Given the description of an element on the screen output the (x, y) to click on. 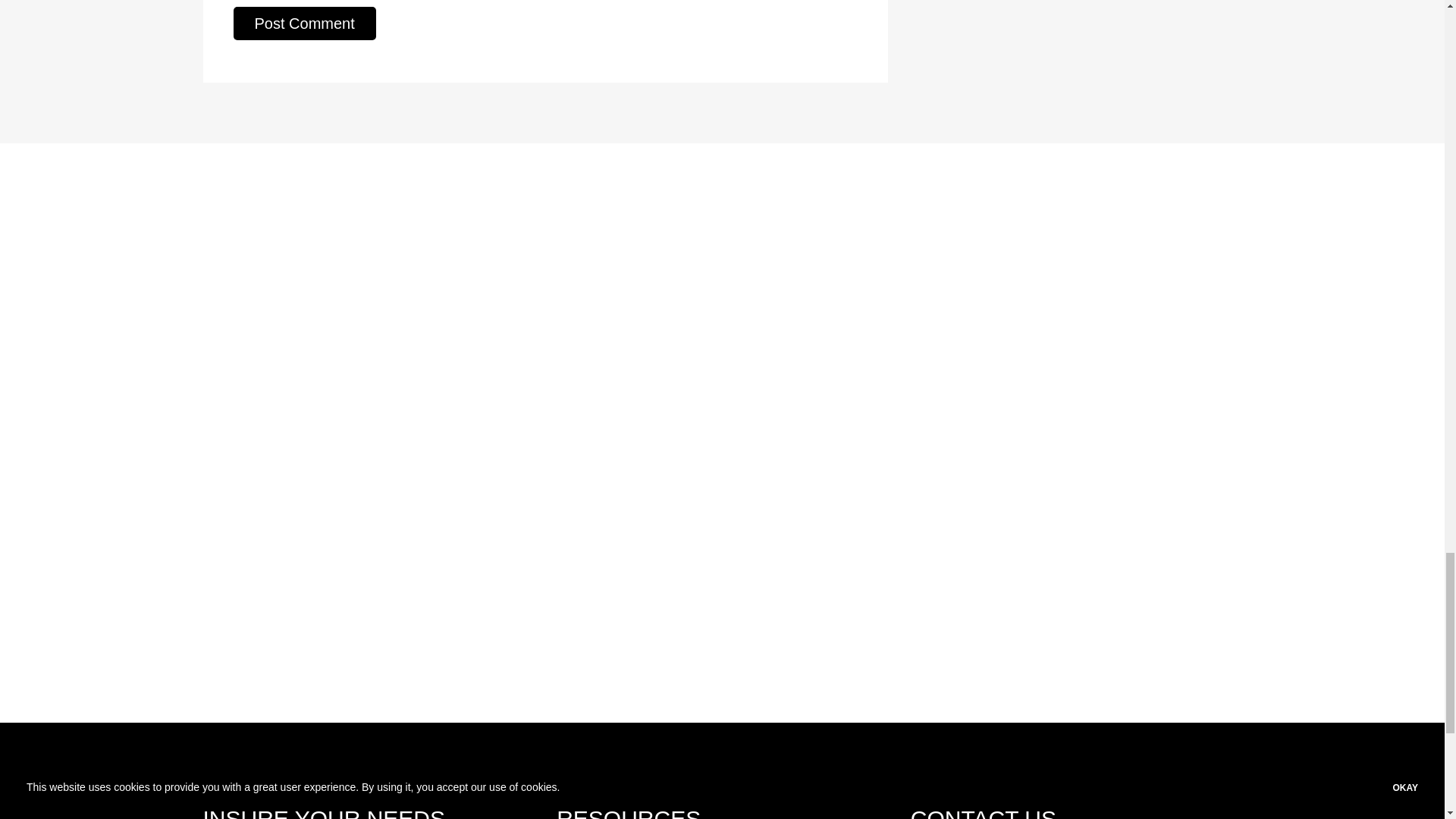
Post Comment (303, 23)
